Given the description of an element on the screen output the (x, y) to click on. 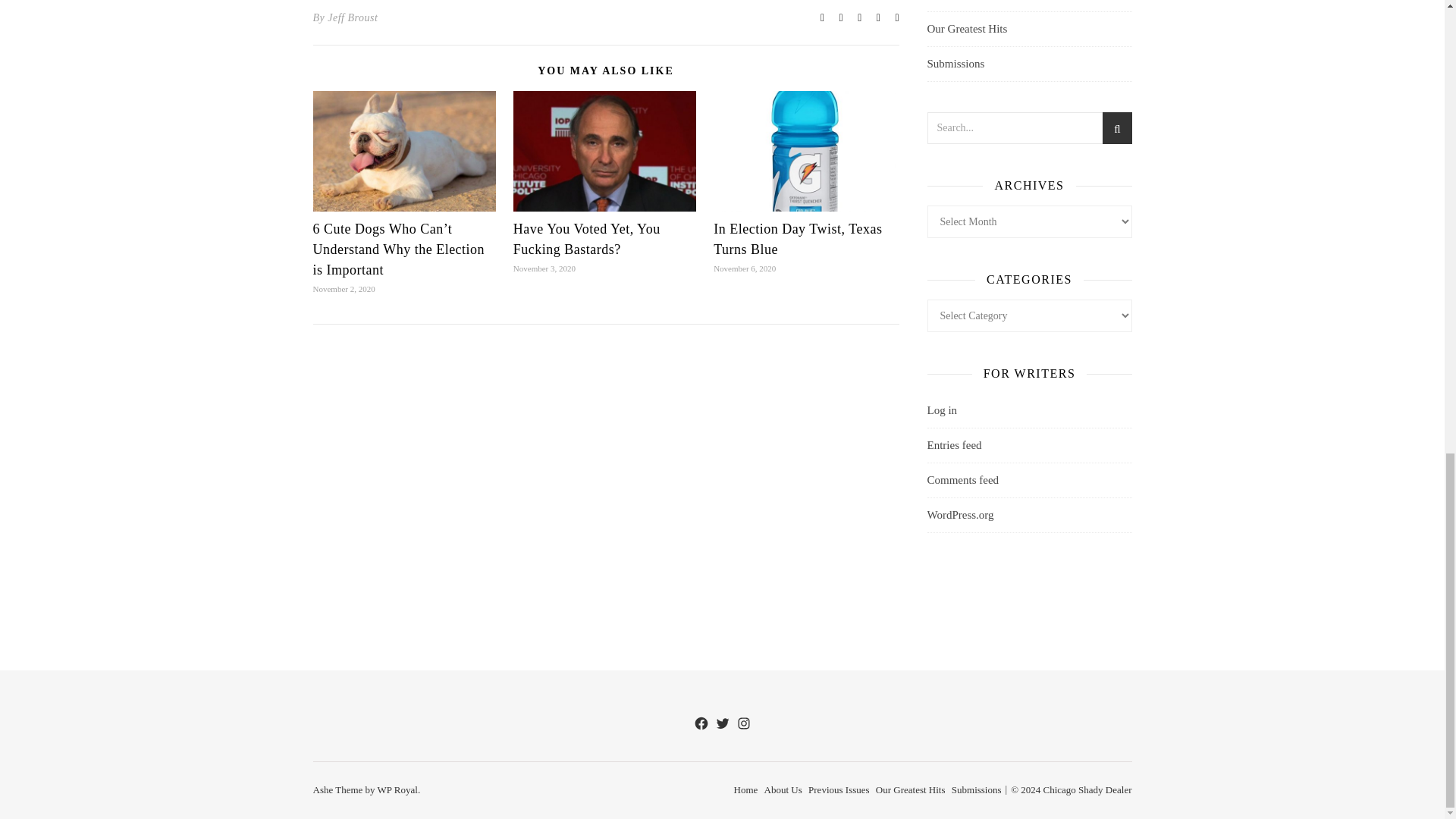
In Election Day Twist, Texas Turns Blue (797, 239)
Jeff Broust (352, 17)
Posts by Jeff Broust (352, 17)
Have You Voted Yet, You Fucking Bastards? (587, 239)
